Given the description of an element on the screen output the (x, y) to click on. 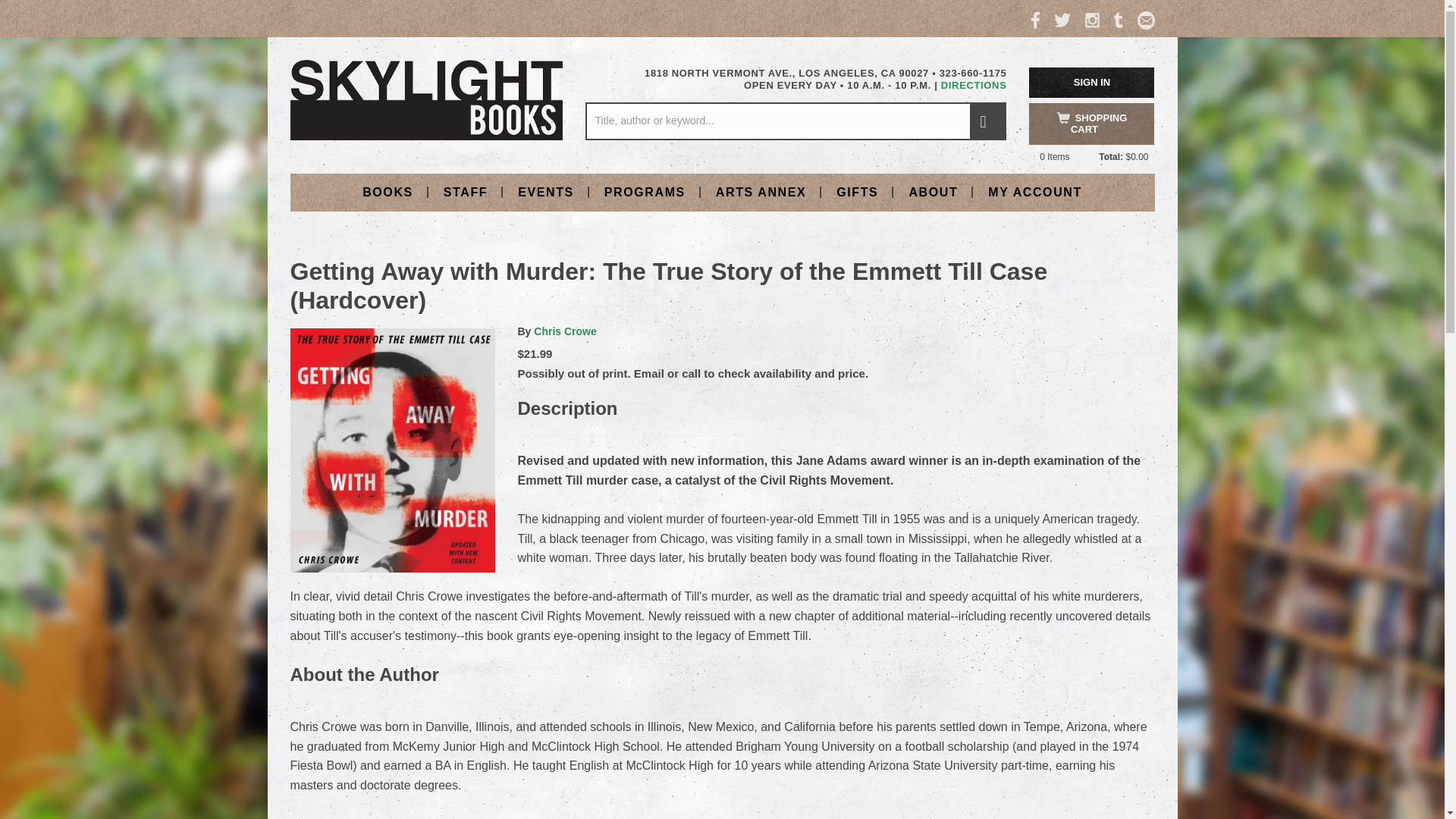
search (987, 121)
GIFTS (857, 191)
search (987, 121)
ARTS ANNEX (760, 191)
DIRECTIONS (973, 84)
EVENTS (545, 191)
STAFF (465, 191)
PROGRAMS (644, 191)
SIGN IN (1091, 81)
Title, author or keyword... (795, 121)
BOOKS (387, 191)
Home (425, 98)
SHOPPING CART (1091, 123)
